Given the description of an element on the screen output the (x, y) to click on. 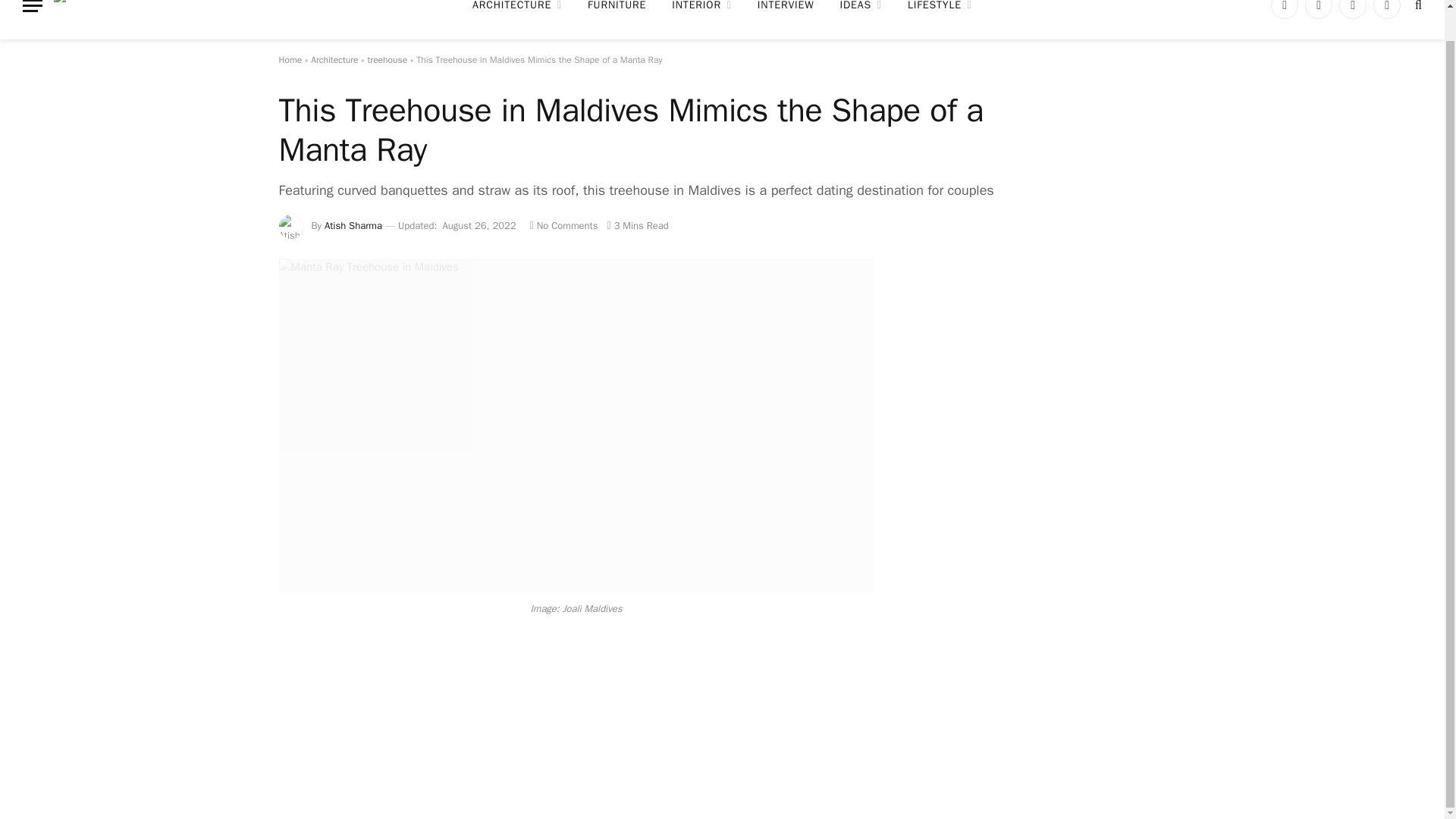
Homecrux (138, 13)
Posts by Atish Sharma (352, 225)
Search (1417, 11)
ARCHITECTURE (517, 19)
